Given the description of an element on the screen output the (x, y) to click on. 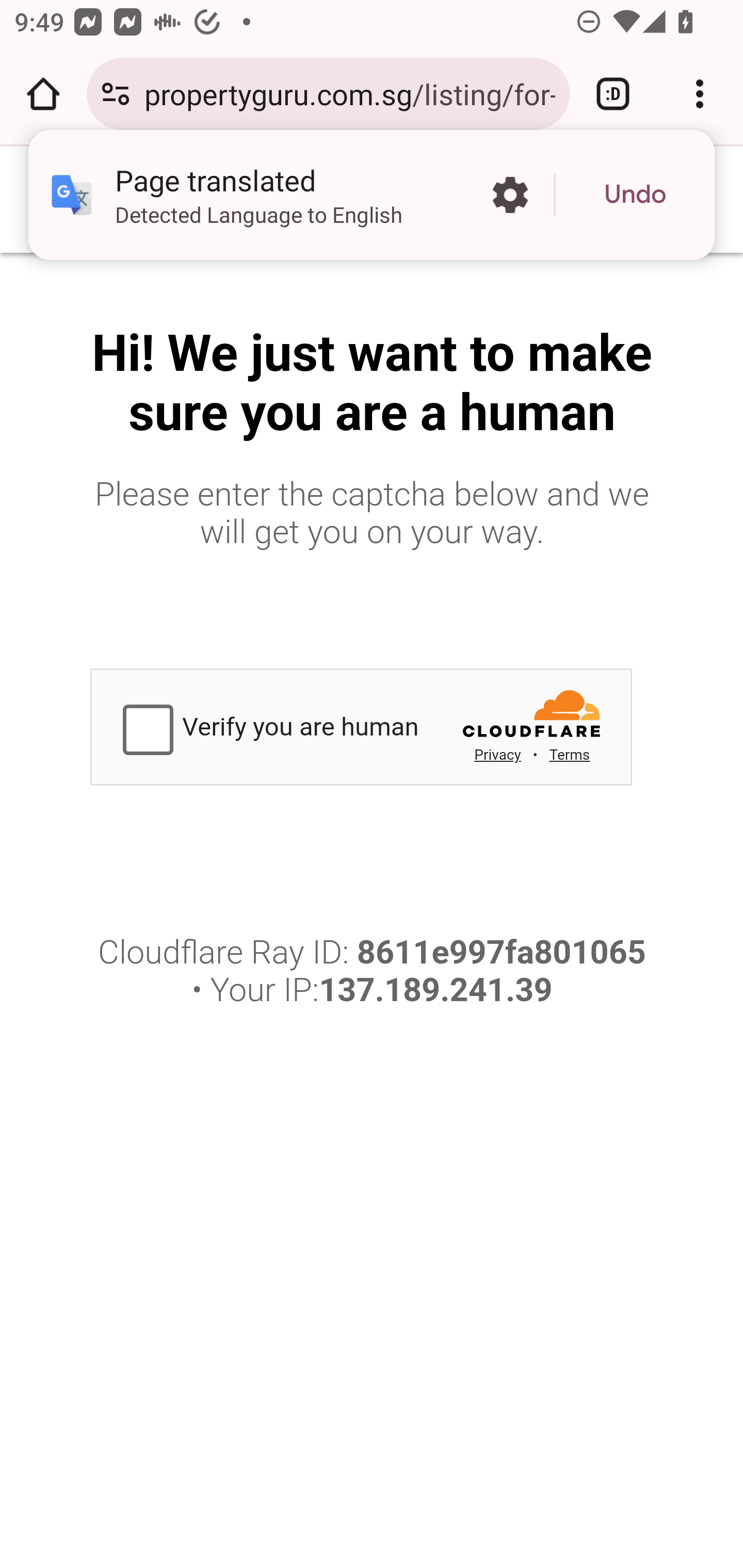
Open the home page (43, 93)
Connection is secure (115, 93)
Switch or close tabs (612, 93)
Customize and control Google Chrome (699, 93)
Undo (634, 195)
More options in the Page translated (509, 195)
